Given the description of an element on the screen output the (x, y) to click on. 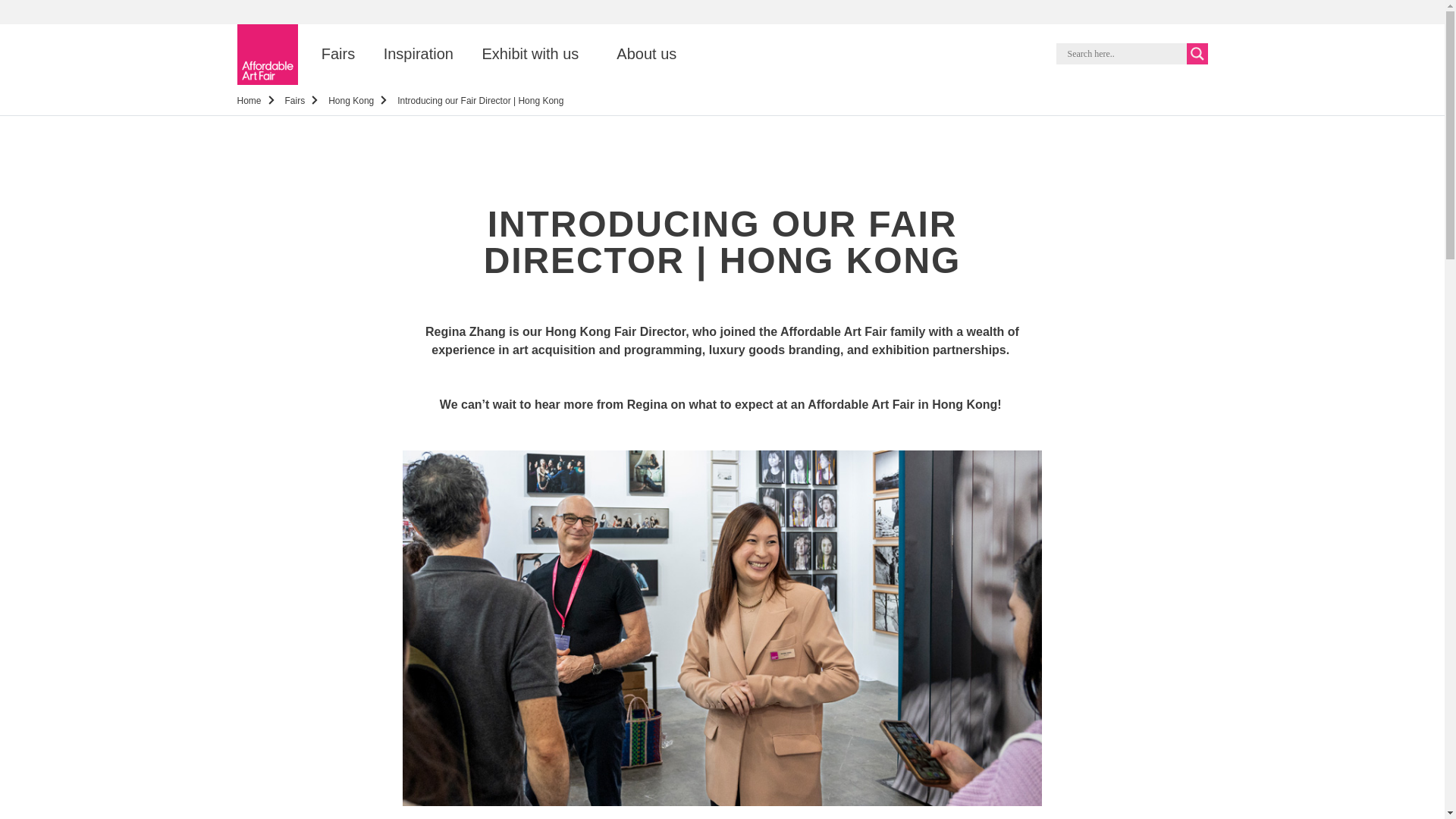
Home (247, 100)
Hong Kong (351, 100)
Exhibit with us (529, 54)
About us (646, 54)
Inspiration (418, 54)
Fairs (337, 54)
Fairs (295, 100)
